Given the description of an element on the screen output the (x, y) to click on. 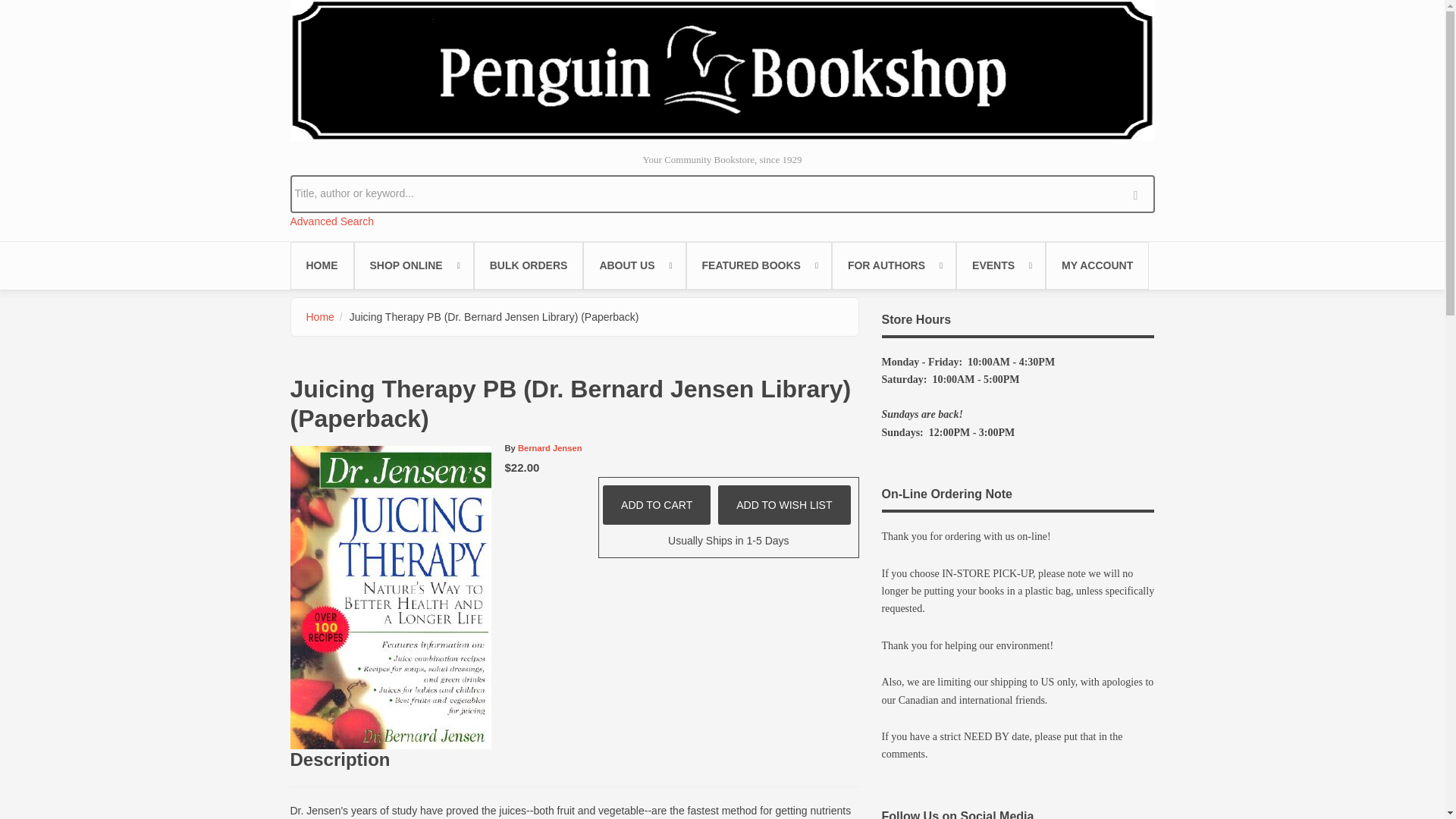
search (1139, 193)
search (1139, 193)
Home (721, 69)
Home (319, 316)
Bernard Jensen (550, 447)
Self-published author information (893, 265)
Title, author or keyword... (721, 193)
Add to Cart (656, 504)
ABOUT US (634, 265)
ADD TO WISH LIST (783, 504)
EVENTS (1000, 265)
Add to Cart (656, 504)
Advanced Search (331, 221)
MY ACCOUNT (1096, 265)
HOME (321, 265)
